Given the description of an element on the screen output the (x, y) to click on. 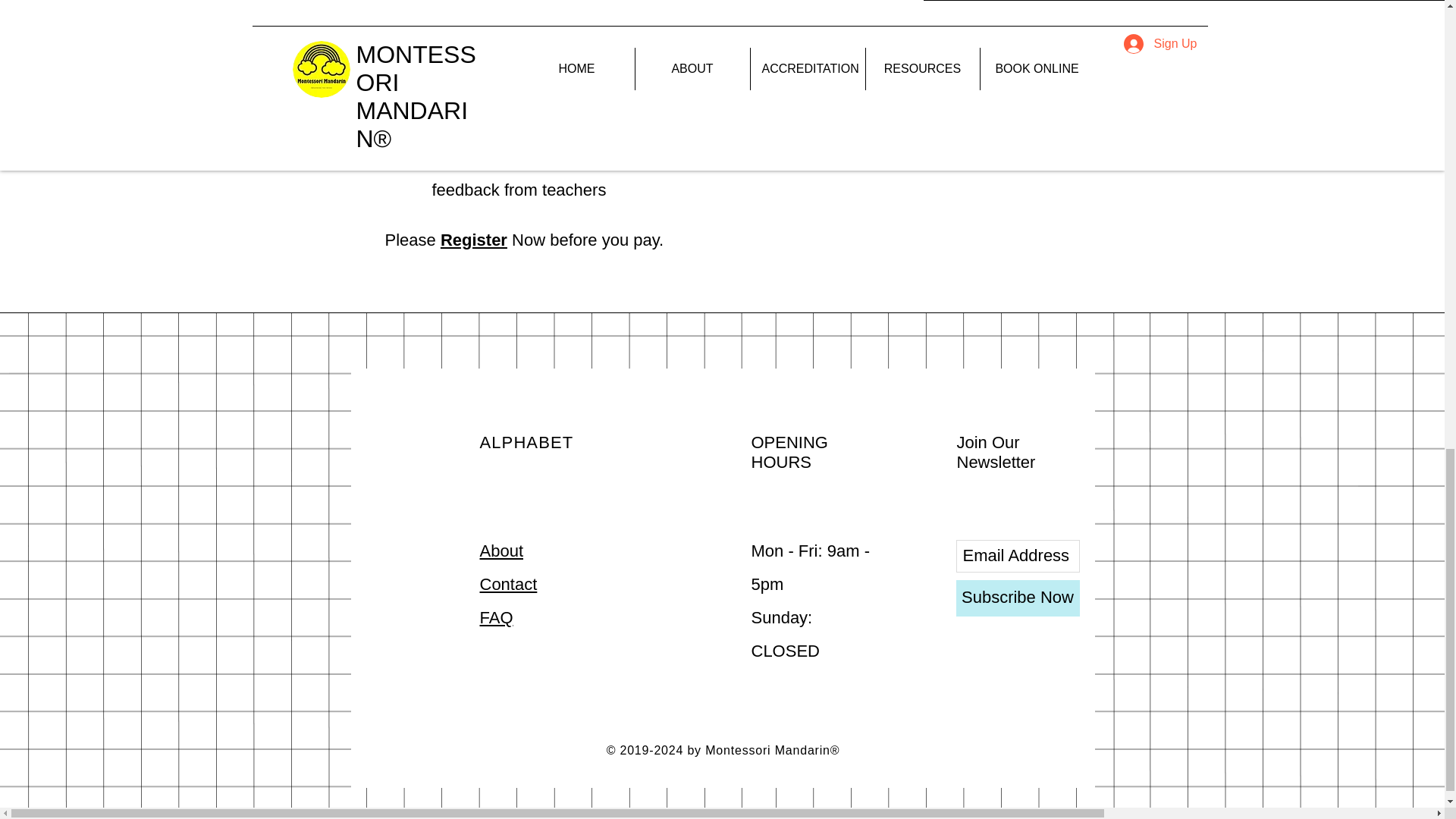
About (500, 550)
Register (473, 239)
Subscribe Now (1016, 597)
FAQ (495, 617)
Contact (508, 583)
